Given the description of an element on the screen output the (x, y) to click on. 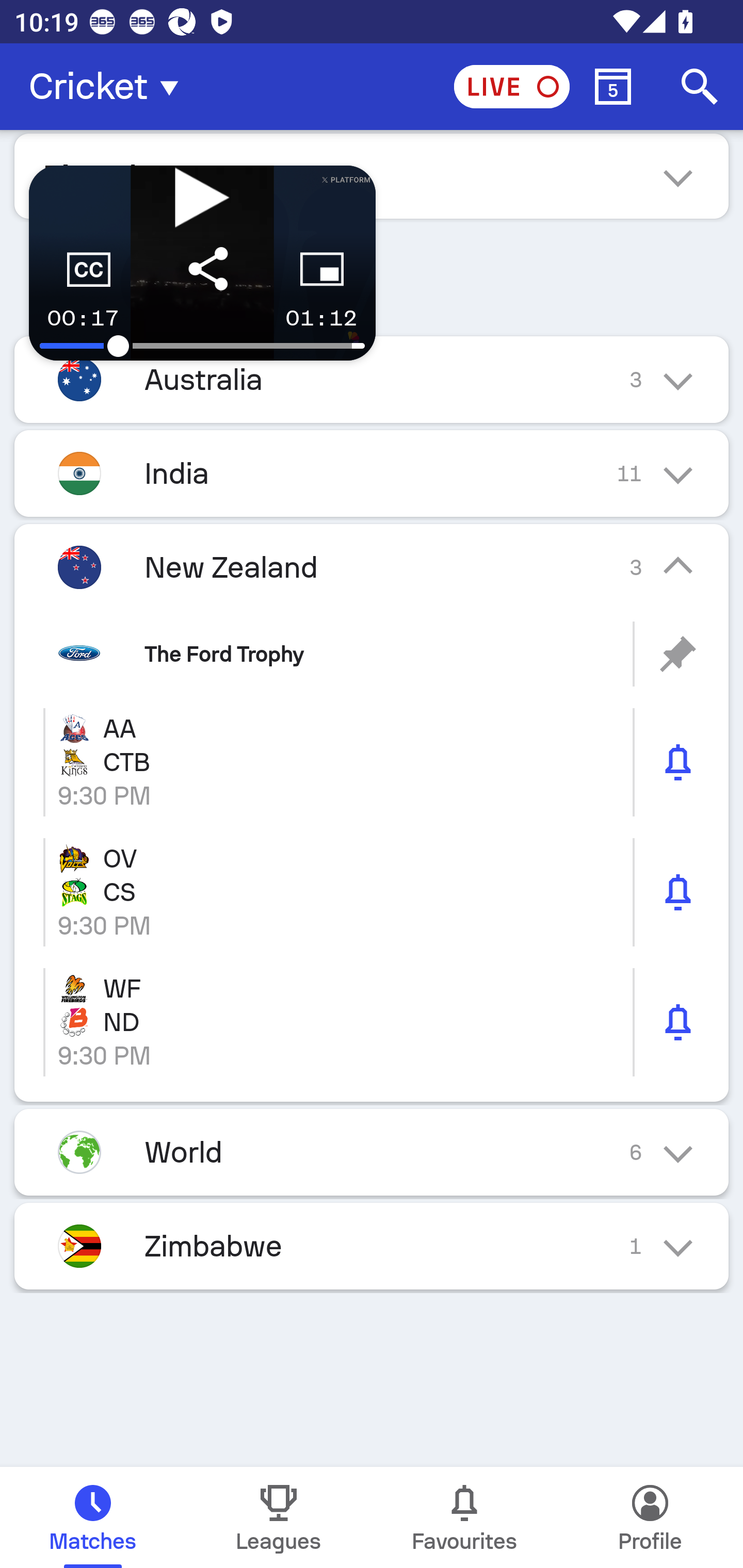
Cricket (109, 86)
Calendar (612, 86)
Search (699, 86)
Australia 3 (371, 379)
India 11 (371, 473)
New Zealand 3 (371, 566)
The Ford Trophy (371, 653)
AA CTB 9:30 PM (371, 762)
OV CS 9:30 PM (371, 892)
WF ND 9:30 PM (371, 1022)
World 6 (371, 1151)
Zimbabwe 1 (371, 1245)
Leagues (278, 1517)
Favourites (464, 1517)
Profile (650, 1517)
